Given the description of an element on the screen output the (x, y) to click on. 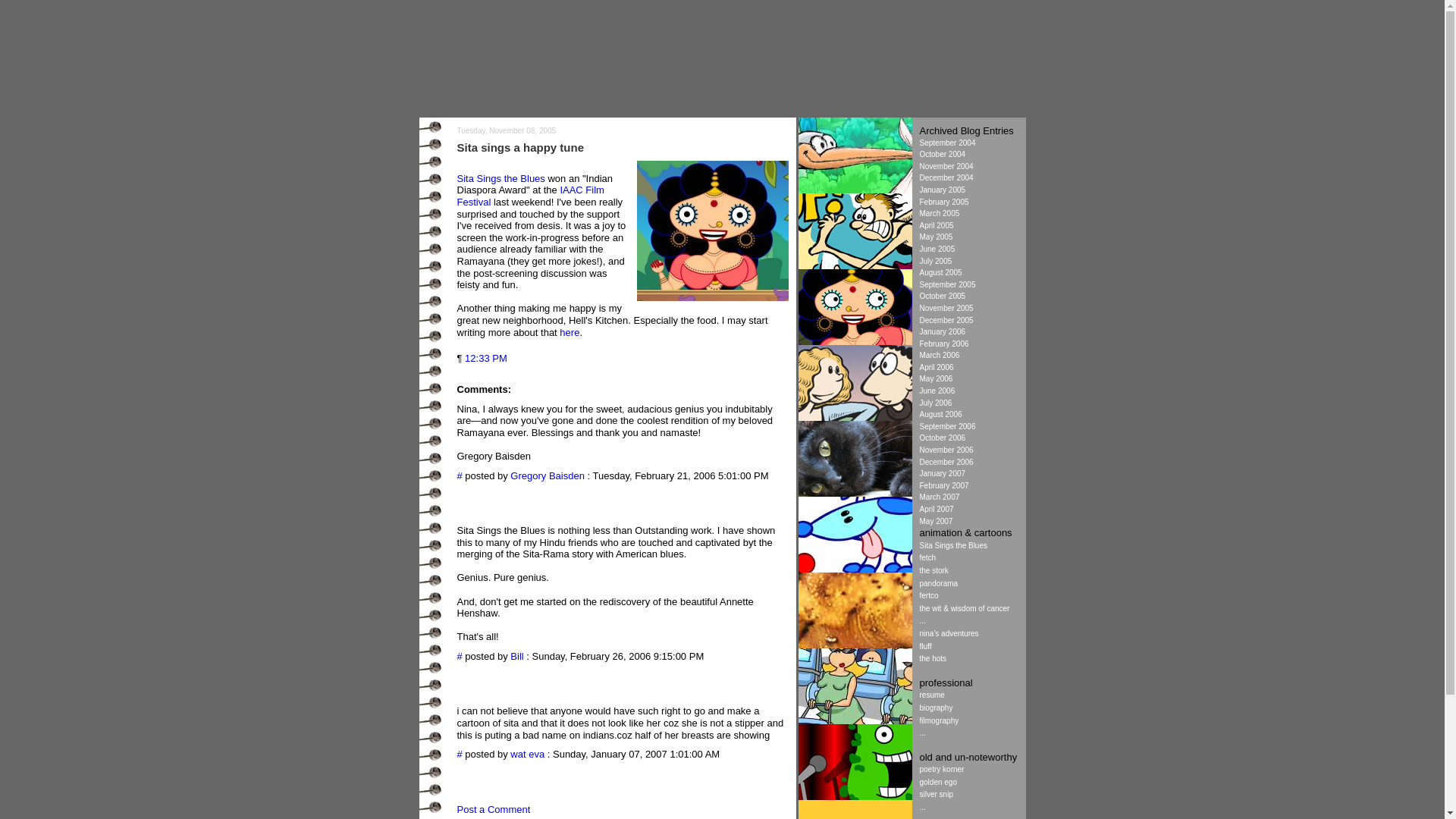
Pandorama (854, 644)
Fetch! (854, 568)
Sita Sings the Blues (854, 341)
Bruno (854, 492)
12:33 PM (485, 357)
February 2005 (943, 202)
Bill (516, 655)
The Hots (854, 417)
permanent link (485, 357)
September 2004 (946, 142)
Sita Sings the Blues (500, 178)
The Stork (854, 189)
FertCo (854, 720)
October 2004 (941, 153)
Nina's Adventures (854, 265)
